Given the description of an element on the screen output the (x, y) to click on. 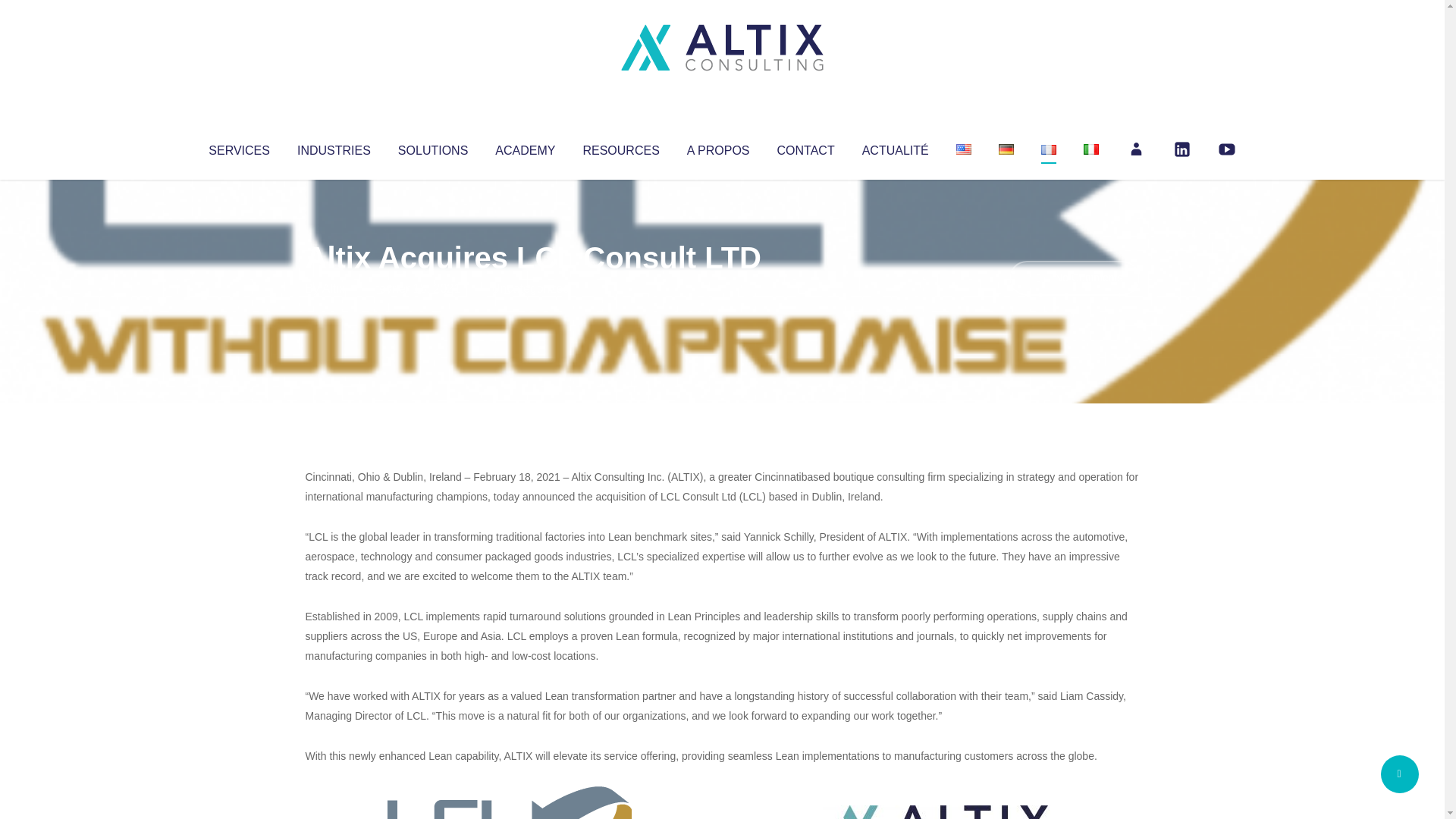
Articles par Altix (333, 287)
SOLUTIONS (432, 146)
Uncategorized (530, 287)
A PROPOS (718, 146)
Altix (333, 287)
ACADEMY (524, 146)
RESOURCES (620, 146)
INDUSTRIES (334, 146)
No Comments (1073, 278)
SERVICES (238, 146)
